Given the description of an element on the screen output the (x, y) to click on. 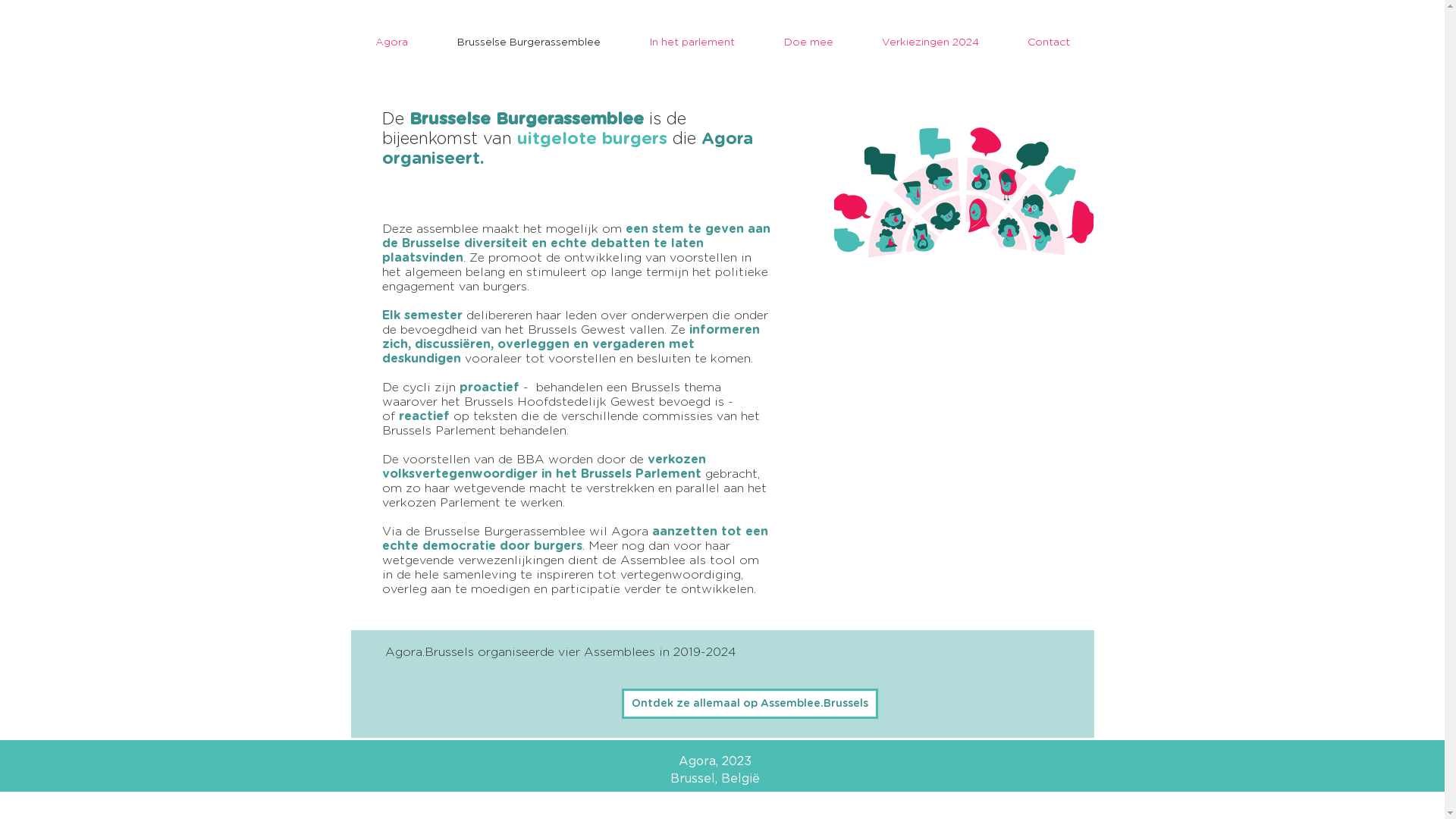
Verkiezingen 2024 Element type: text (929, 42)
Ontdek ze allemaal op Assemblee.Brussels Element type: text (749, 703)
In het parlement Element type: text (691, 42)
Contact Element type: text (1047, 42)
Agora Element type: text (391, 42)
Brusselse Burgerassemblee Element type: text (528, 42)
Doe mee Element type: text (808, 42)
